Given the description of an element on the screen output the (x, y) to click on. 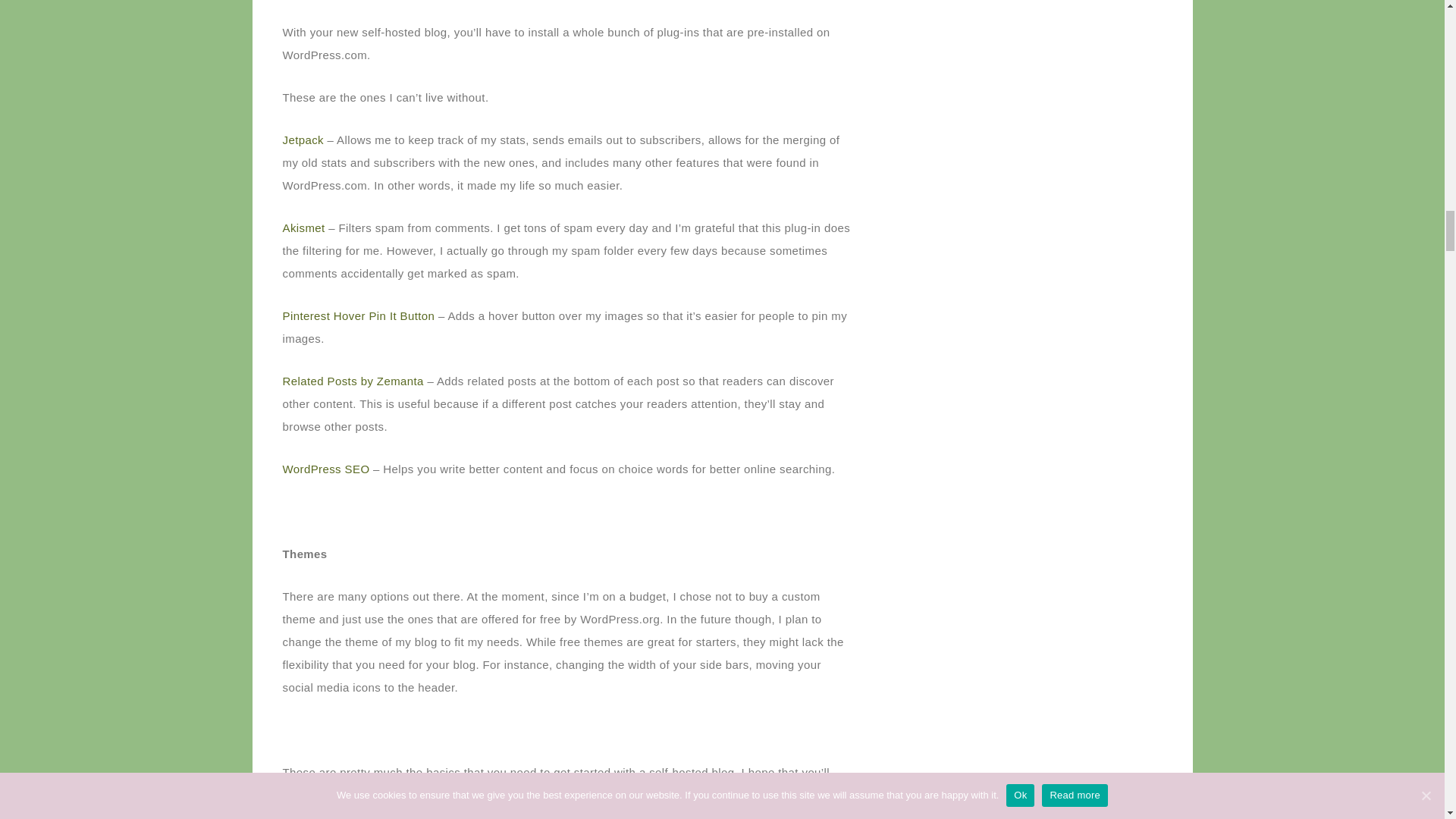
Related Posts by Zemanta (352, 380)
Akismet (303, 227)
WordPress SEO (325, 468)
Pinterest Hover Pin It Button (357, 315)
Jetpack (302, 139)
